Given the description of an element on the screen output the (x, y) to click on. 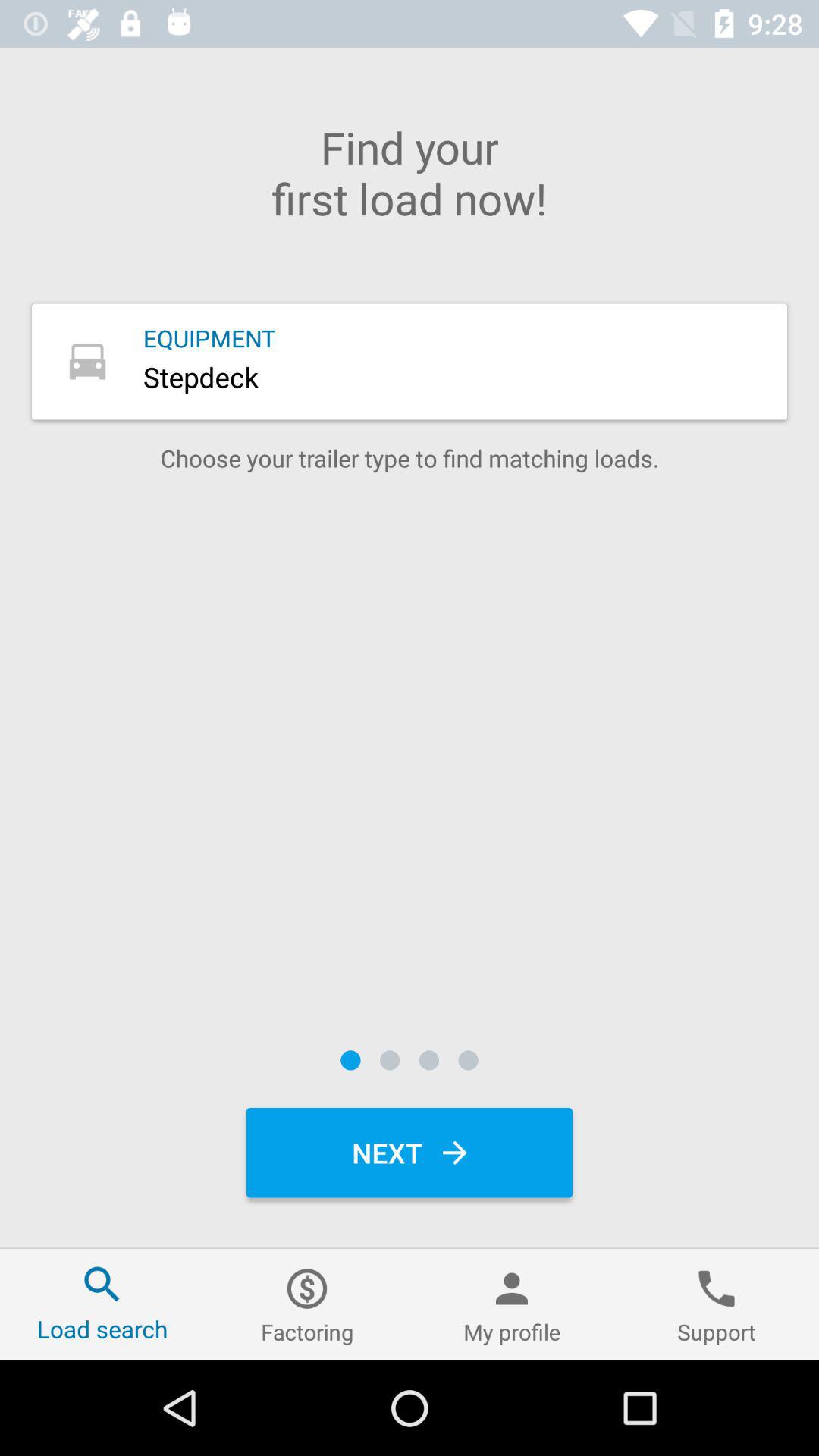
press item to the right of the factoring item (511, 1304)
